Given the description of an element on the screen output the (x, y) to click on. 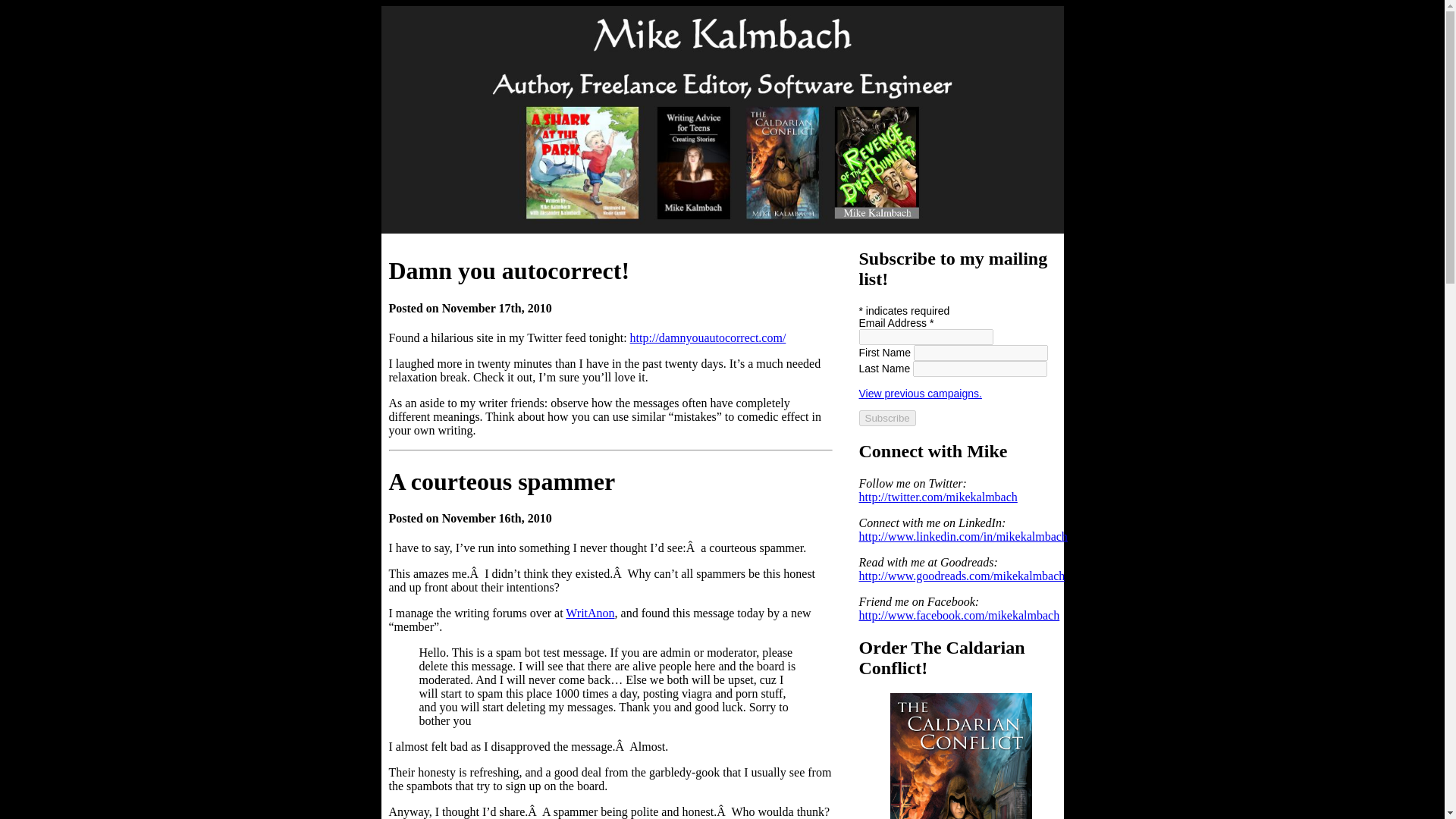
Subscribe (887, 417)
View previous campaigns (920, 393)
Subscribe (887, 417)
Damn you autocorrect! (508, 270)
A courteous spammer (501, 481)
WritAnon (590, 612)
View previous campaigns. (920, 393)
